Given the description of an element on the screen output the (x, y) to click on. 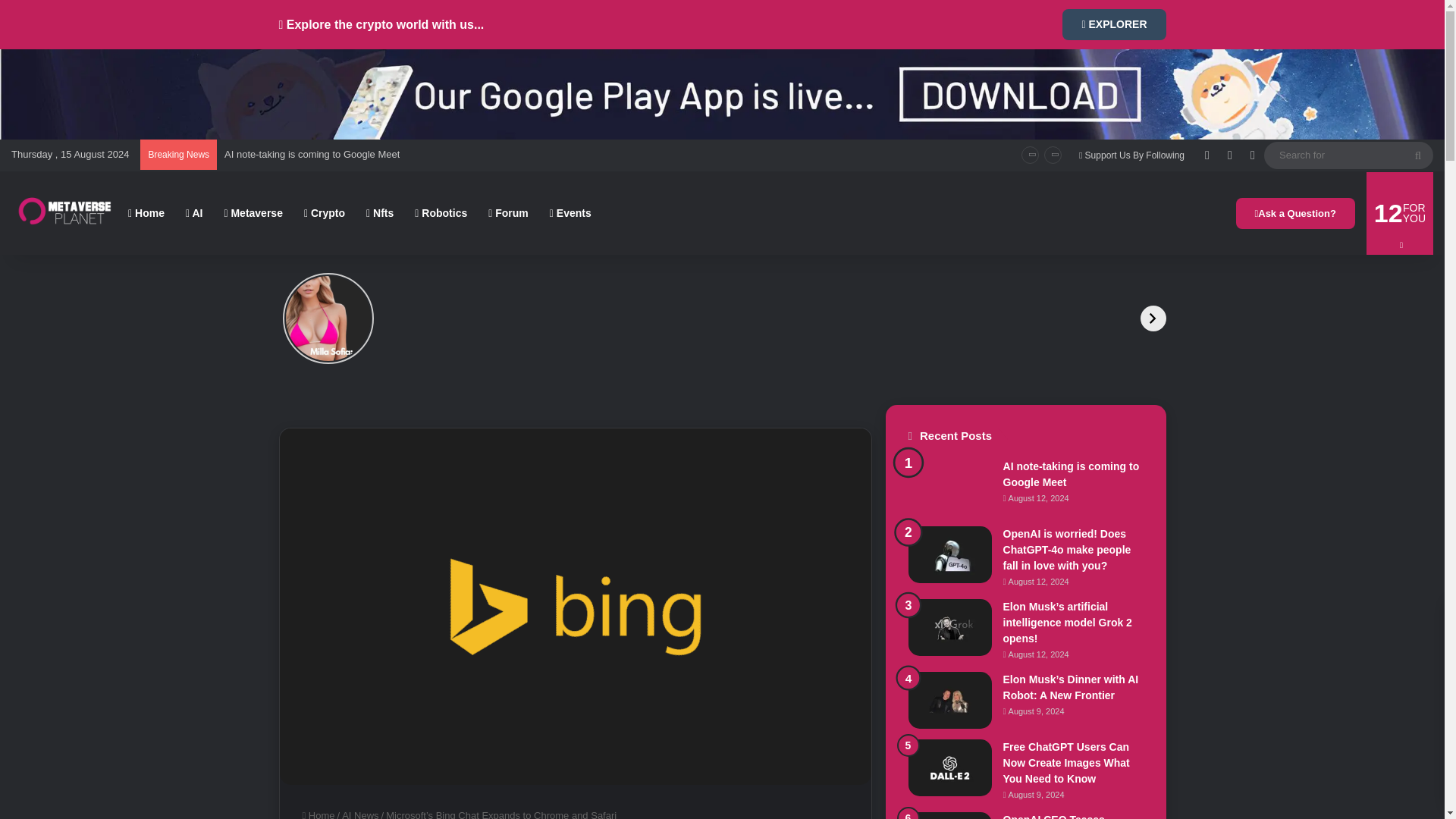
Support Us By Following (1131, 155)
Metaverse (253, 212)
AI note-taking is coming to Google Meet (311, 153)
Metaverseplanet.net (64, 212)
Search for (1417, 154)
Search for (1347, 154)
